Given the description of an element on the screen output the (x, y) to click on. 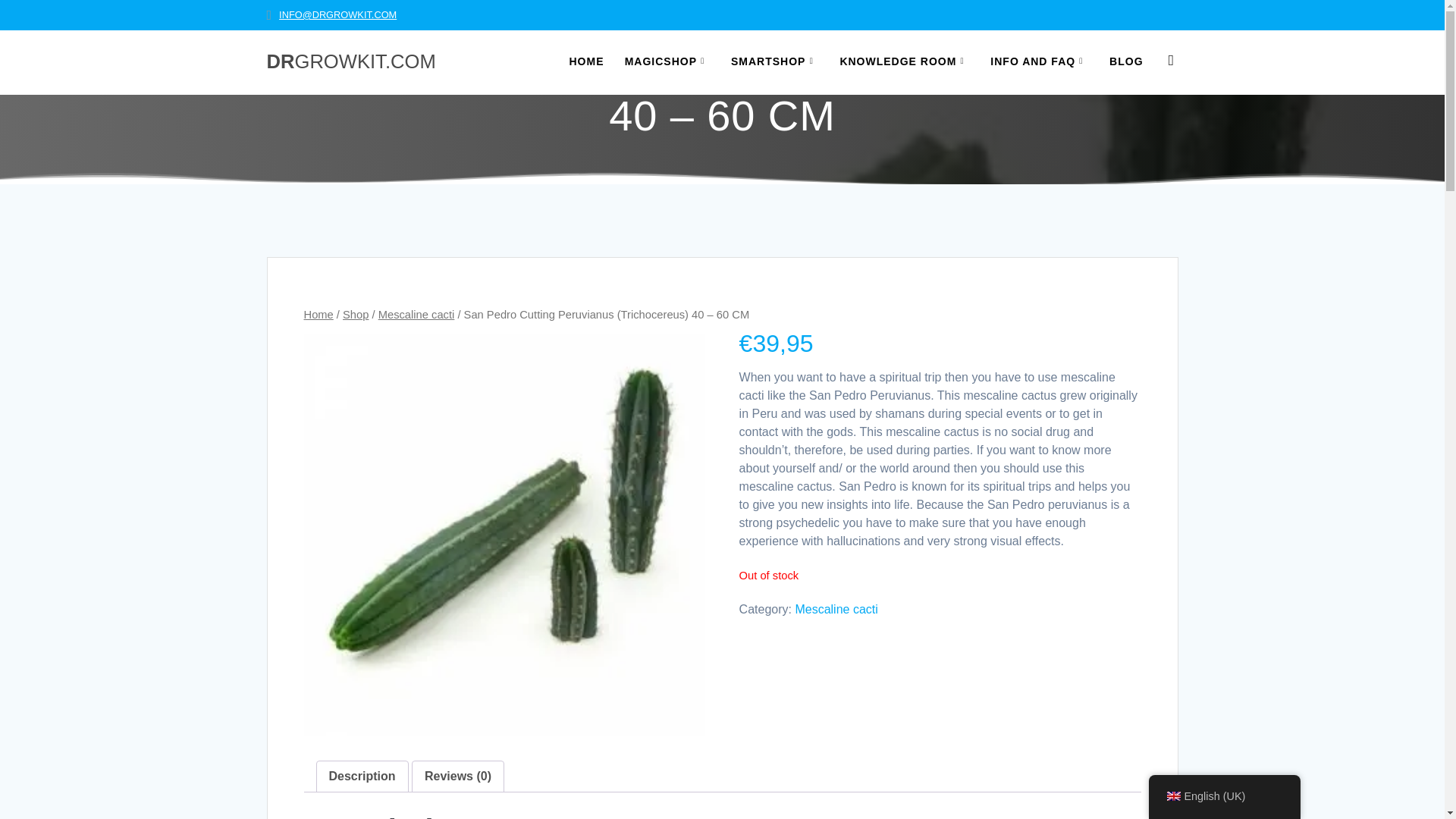
INFO AND FAQ (1039, 62)
SMARTSHOP (774, 62)
DRGROWKIT.COM (350, 62)
BLOG (1125, 62)
HOME (586, 62)
MAGICSHOP (667, 62)
KNOWLEDGE ROOM (904, 62)
